Given the description of an element on the screen output the (x, y) to click on. 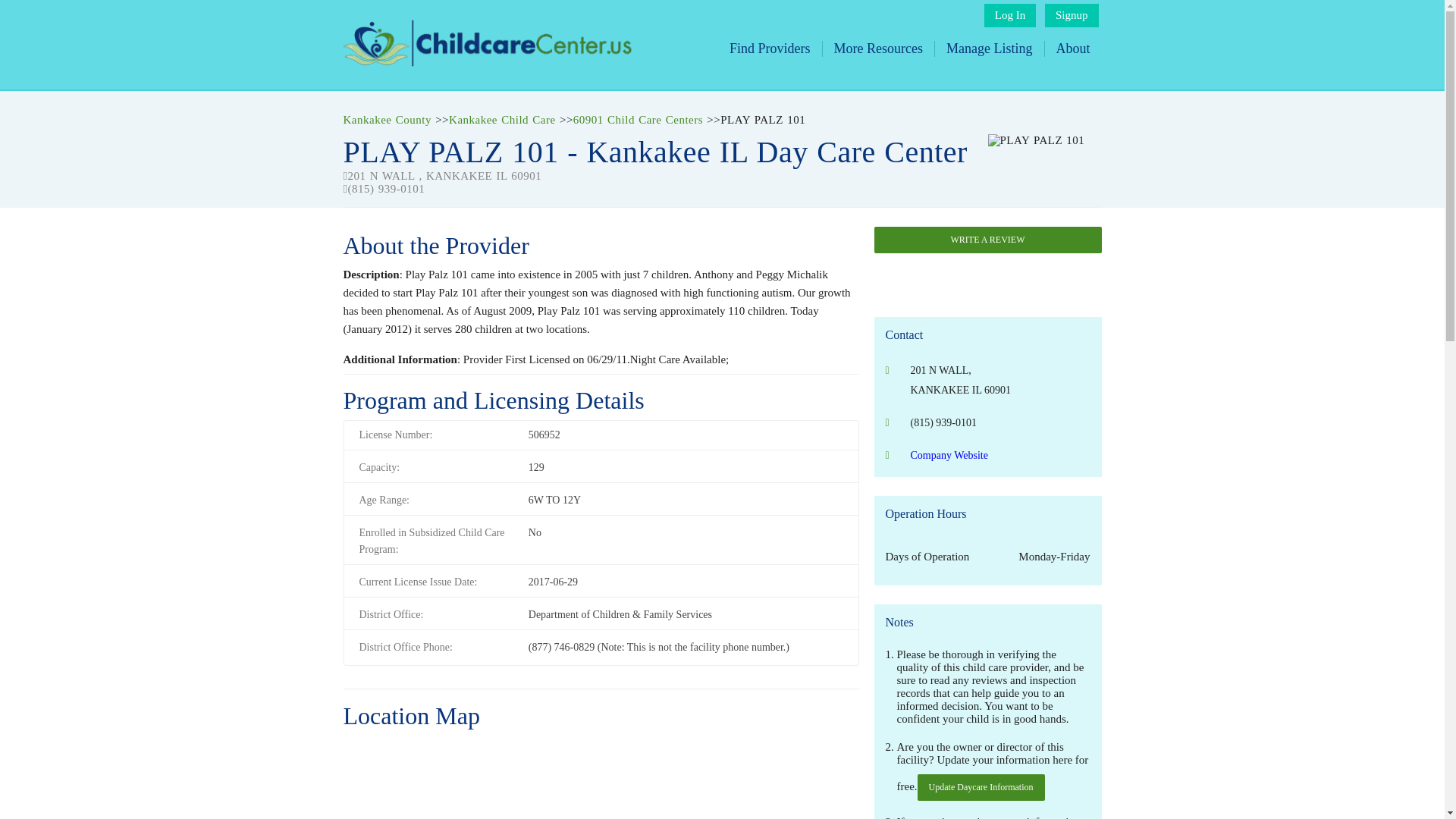
Childcare Center, Preschools, and Home Daycare (486, 62)
Kankakee County (386, 119)
Signup (1072, 15)
More Resources (878, 48)
Company Website (948, 455)
Manage Listing (989, 48)
About (1072, 48)
Find Providers (769, 48)
Update Daycare Information (981, 786)
WRITE A REVIEW (986, 239)
